Given the description of an element on the screen output the (x, y) to click on. 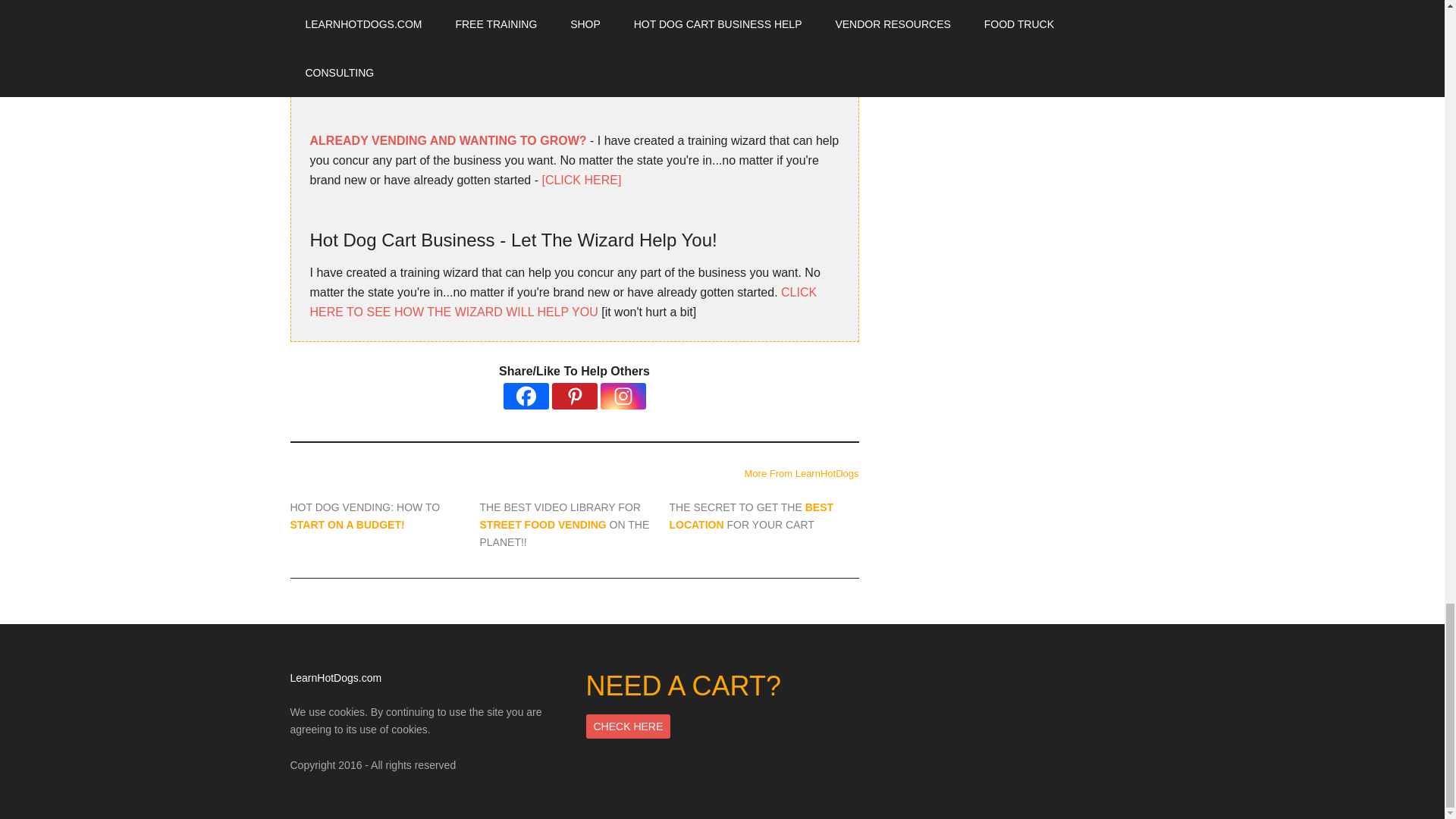
Pinterest (573, 396)
Instagram (622, 396)
BUILD YOUR OWN CART (381, 4)
Facebook (525, 396)
